Given the description of an element on the screen output the (x, y) to click on. 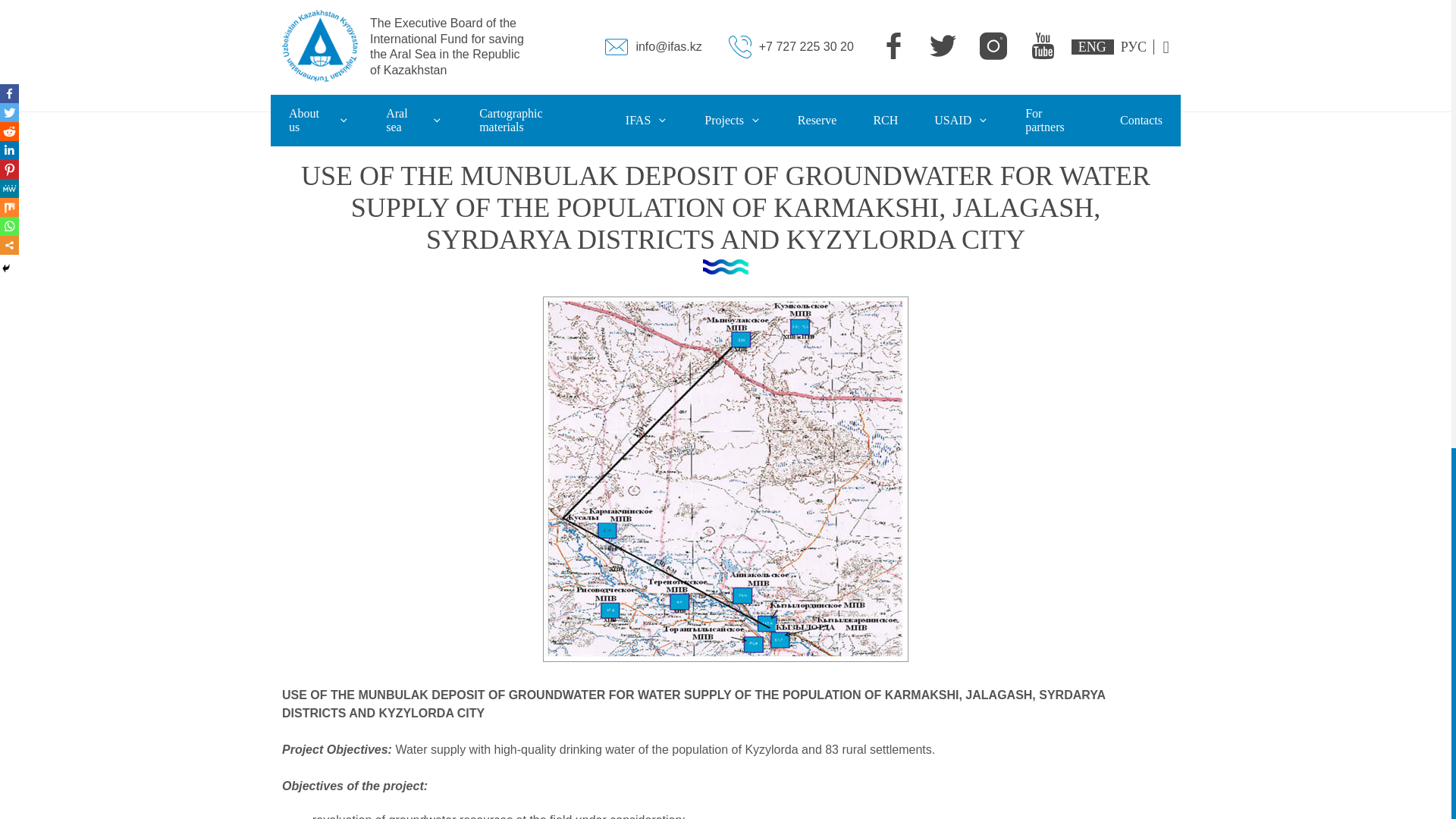
General information (462, 158)
Cartographic materials (534, 120)
Pinterest (9, 169)
About us (319, 120)
USAID (961, 120)
Projects (731, 120)
Gallery (462, 158)
Twitter (9, 112)
IFAS (647, 120)
Linkedin (9, 149)
Establishment of the fund (701, 158)
Facebook (9, 93)
Planned (780, 158)
Reserve (817, 120)
Reddit (9, 131)
